Given the description of an element on the screen output the (x, y) to click on. 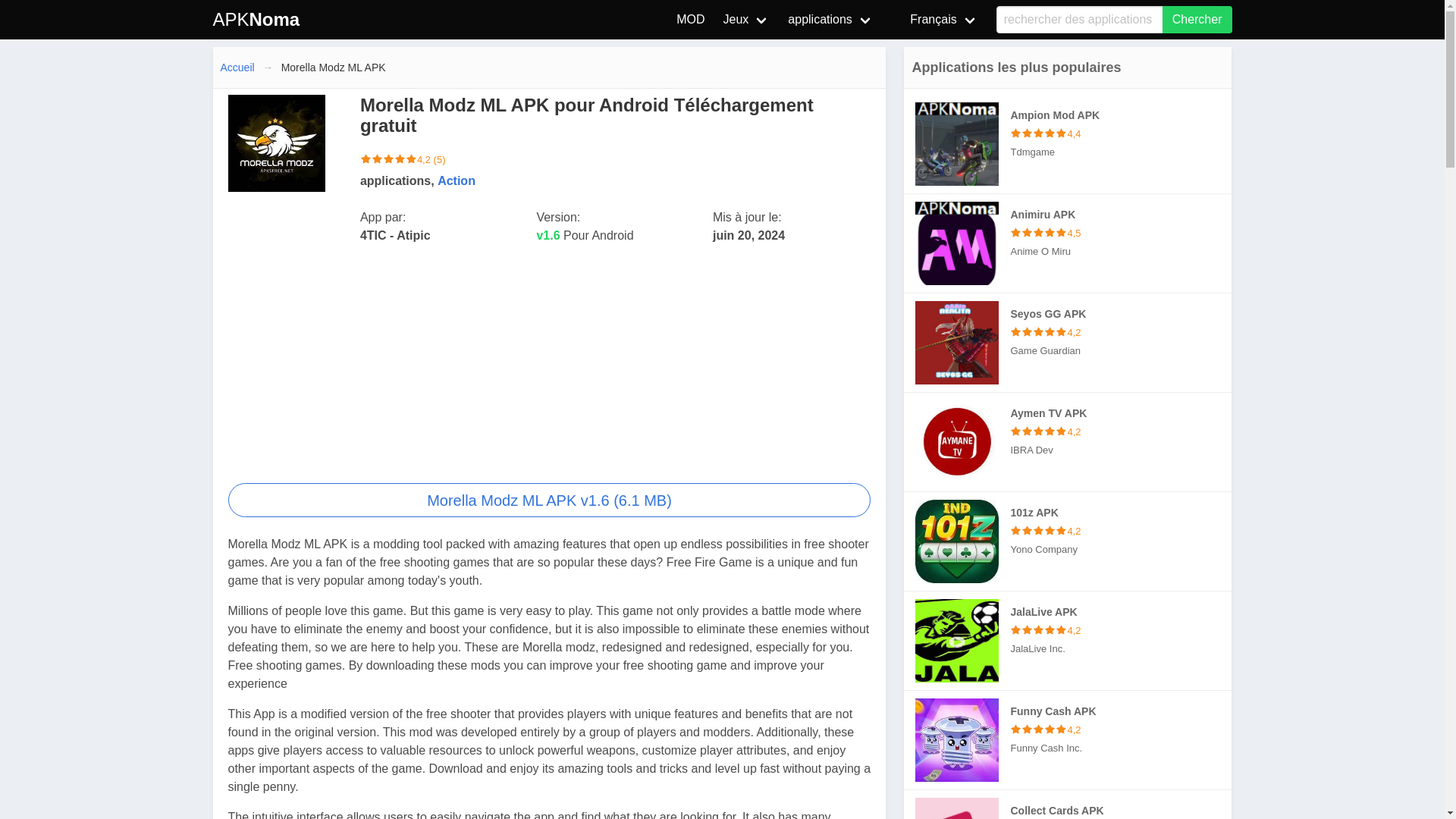
average rating 4,2 (387, 159)
MOD (689, 19)
APKNoma (255, 19)
Animiru APK (956, 243)
Ampion Mod APK 4,4 (1120, 133)
applications (830, 19)
Jeux (746, 19)
Ampion Mod APK APK (1067, 144)
Morella Modz ML APK icon (275, 143)
Morella Modz ML APK (548, 499)
Ampion Mod APK (956, 143)
average rating 4,4 (1038, 133)
Animiru APK APK (1067, 243)
